Given the description of an element on the screen output the (x, y) to click on. 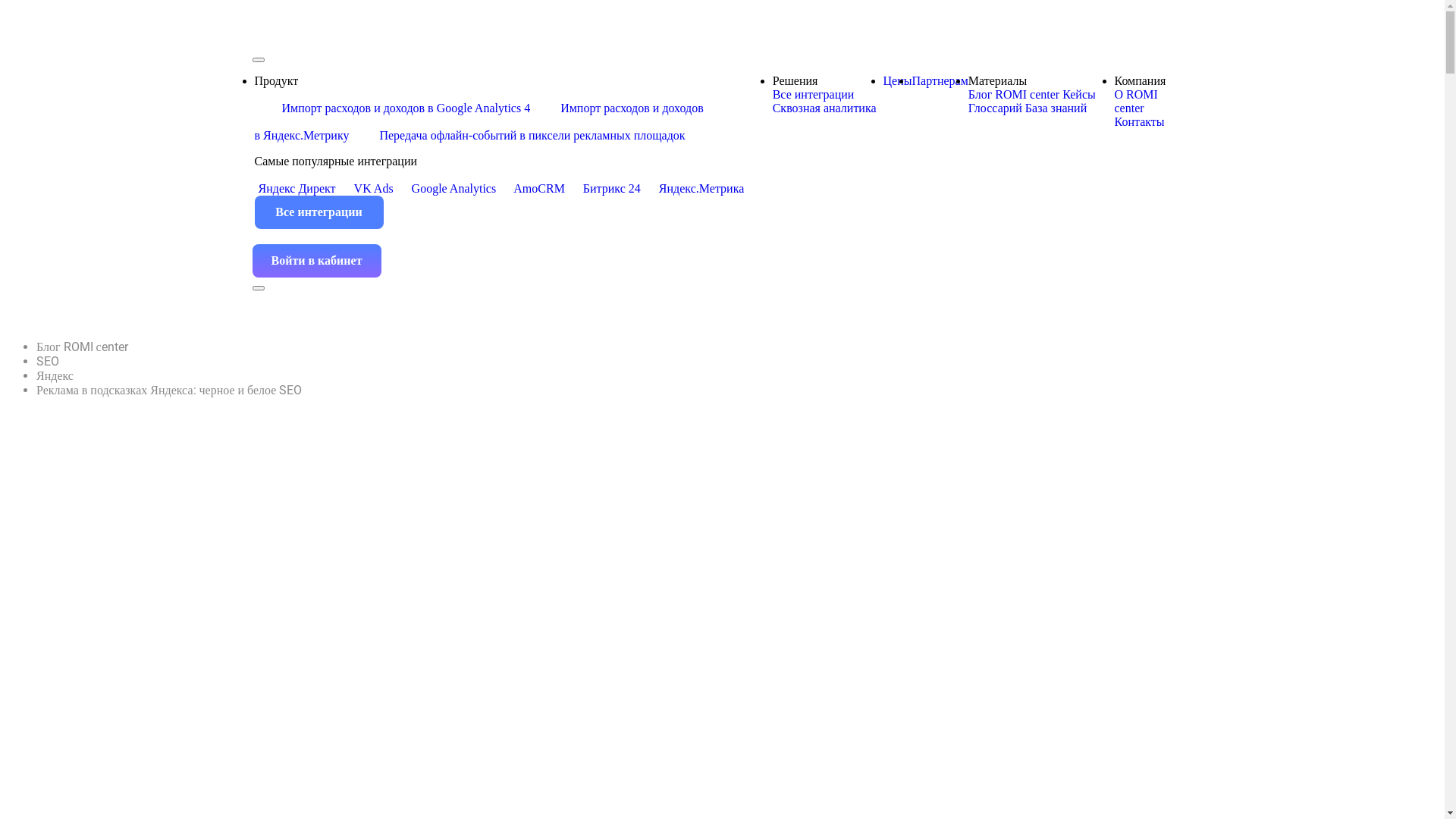
SEO Element type: text (468, 361)
Google Analytics Element type: text (447, 188)
VK Ads Element type: text (367, 188)
AmoCRM Element type: text (532, 188)
